Given the description of an element on the screen output the (x, y) to click on. 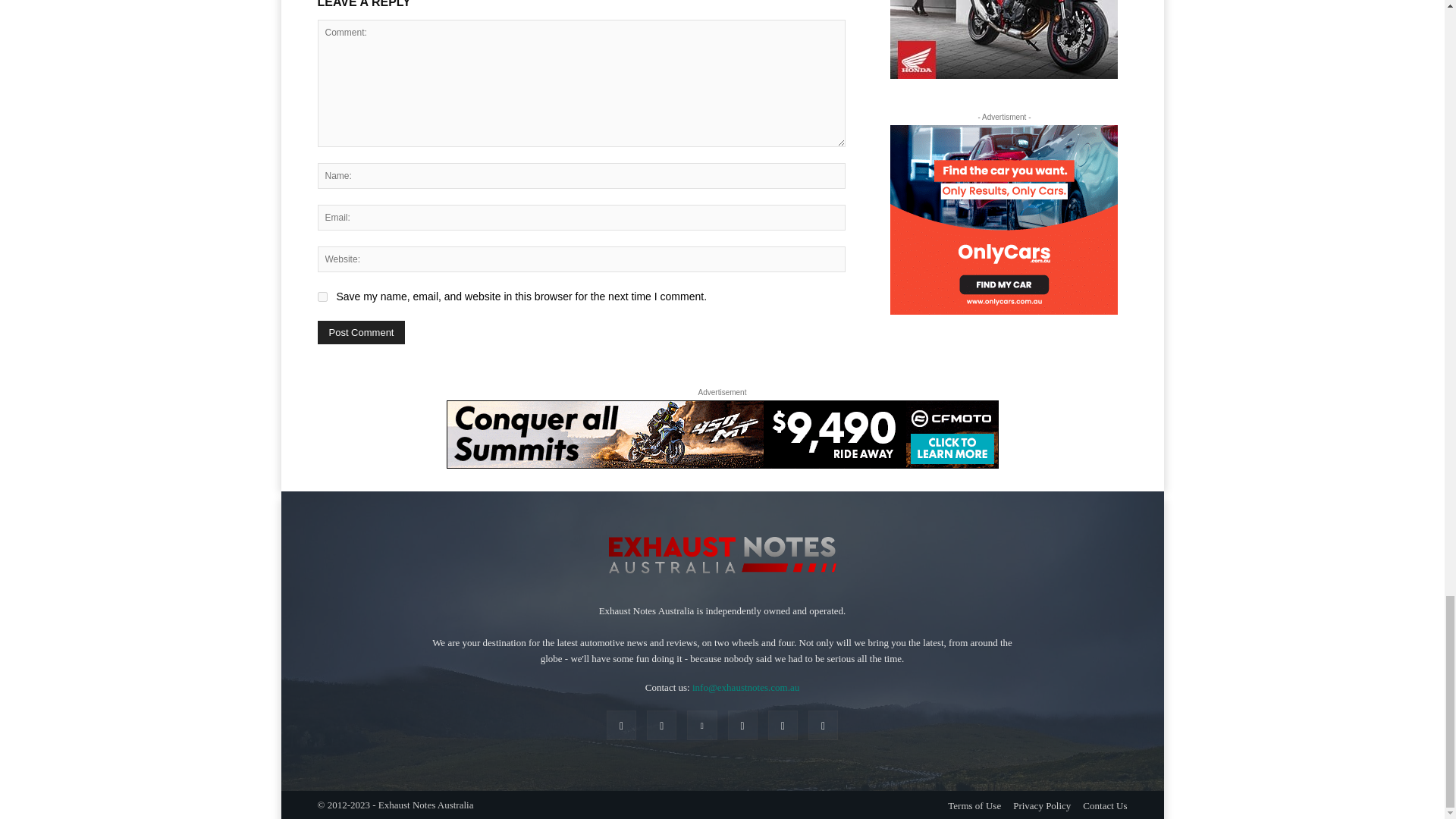
Post Comment (360, 332)
yes (321, 296)
